Given the description of an element on the screen output the (x, y) to click on. 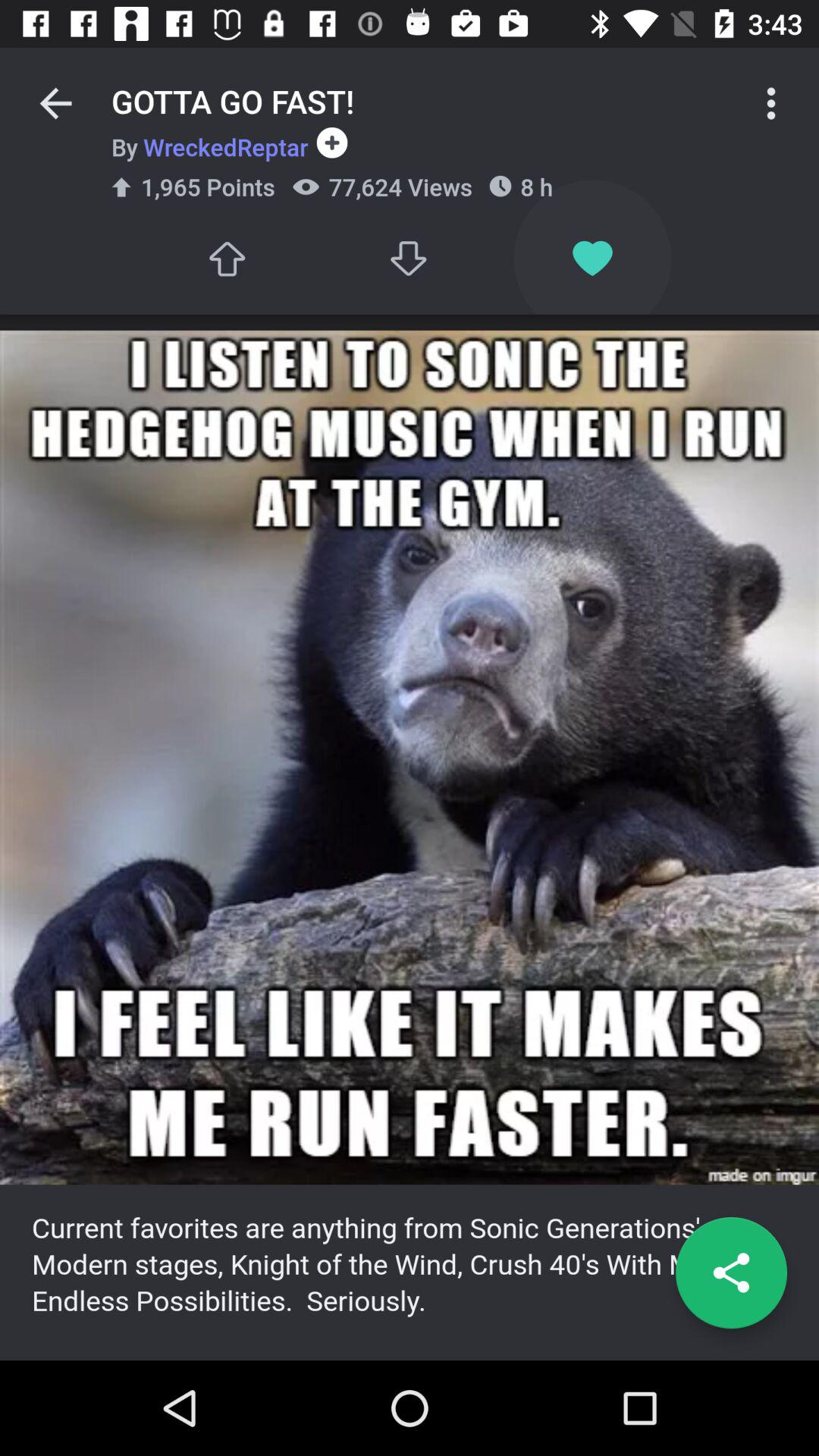
press icon next to 8 h item (771, 103)
